Given the description of an element on the screen output the (x, y) to click on. 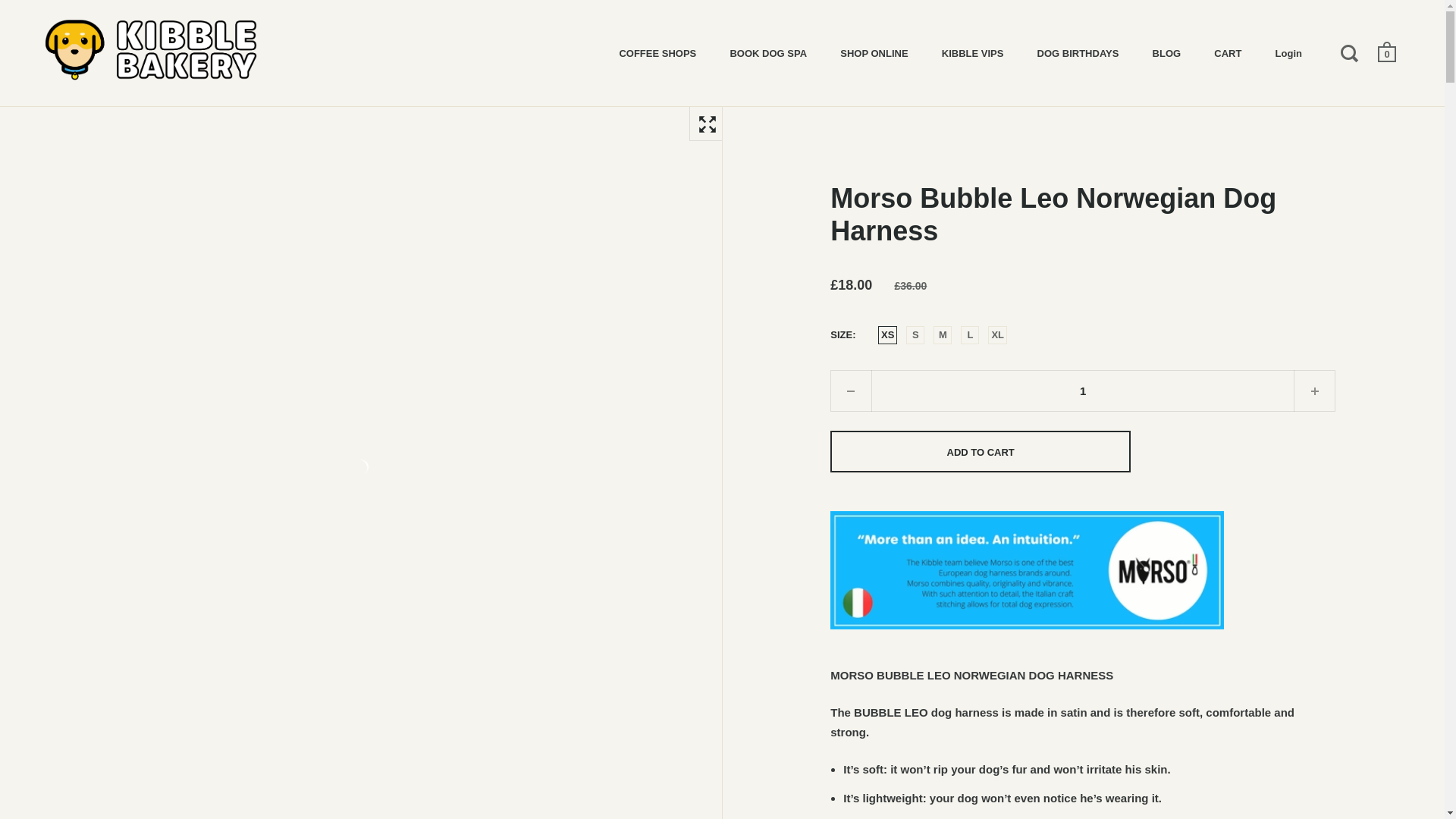
Login (1288, 52)
CART (1227, 52)
BOOK DOG SPA (768, 52)
1 (1082, 390)
ADD TO CART (980, 451)
SHOP ONLINE (874, 52)
Open cart (1387, 51)
Open search (1350, 52)
COFFEE SHOPS (657, 52)
